Given the description of an element on the screen output the (x, y) to click on. 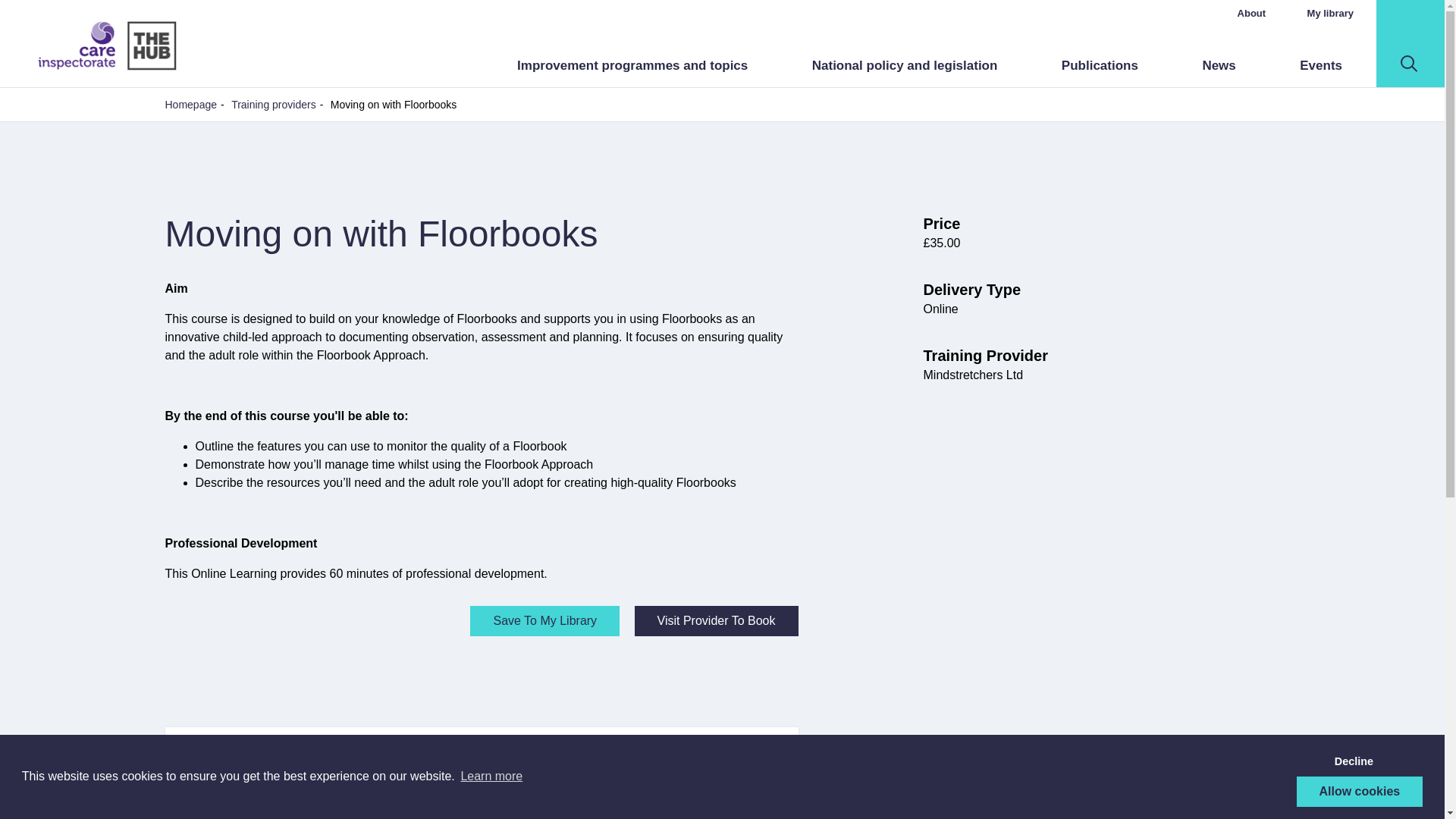
Homepage (190, 104)
Learn more (491, 775)
News (1218, 65)
National policy and legislation (904, 65)
Decline (1353, 761)
Training providers (273, 104)
Visit Provider To Book (715, 621)
Save To My Library (545, 621)
About (1251, 12)
My library (1330, 12)
Events (1321, 65)
Improvement programmes and topics (631, 65)
Publications (1099, 65)
Allow cookies (1360, 791)
